Given the description of an element on the screen output the (x, y) to click on. 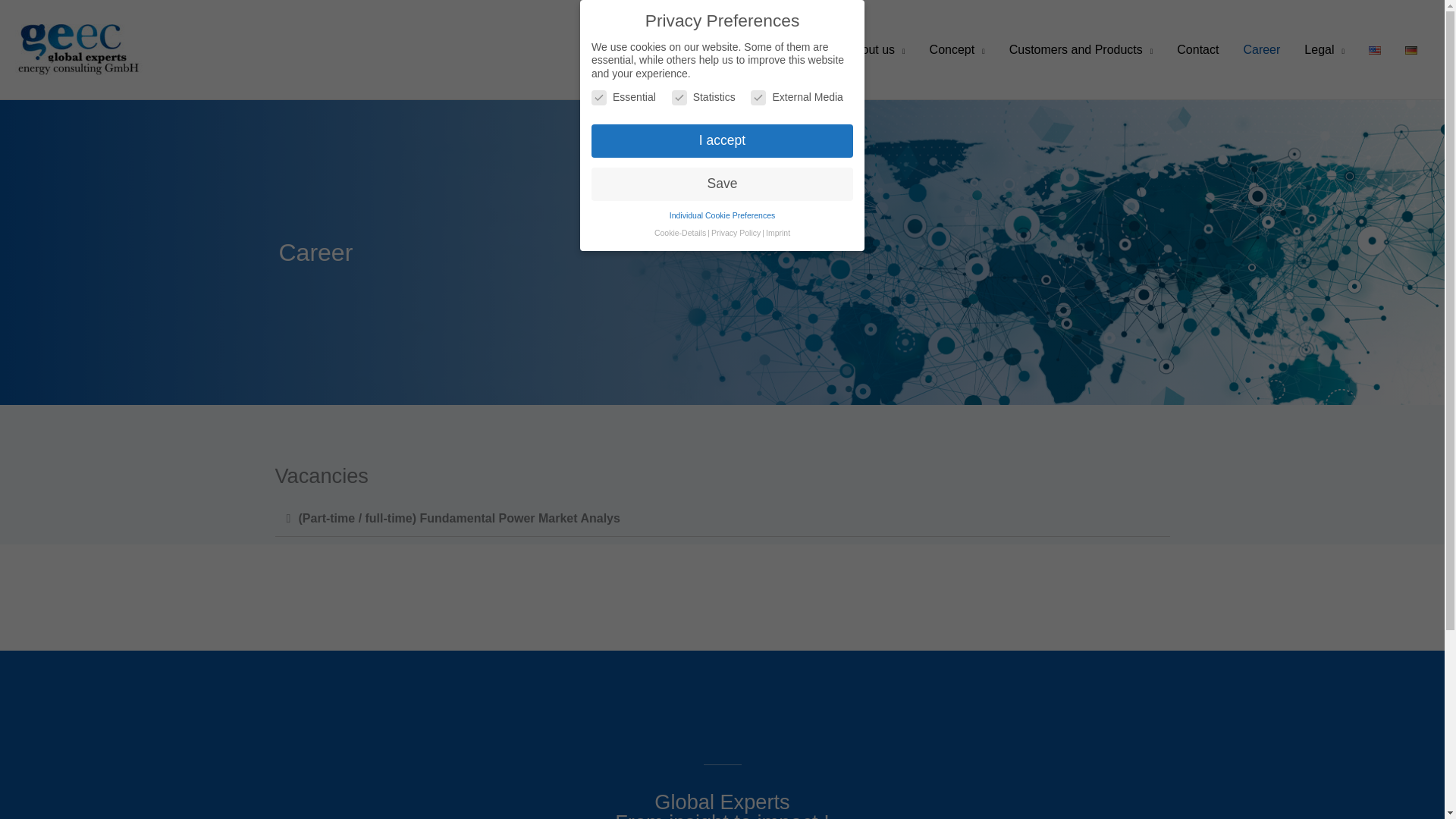
Save (722, 183)
English (1374, 49)
Career (1261, 49)
Privacy Policy (735, 232)
Legal (1324, 49)
Contact (1197, 49)
I accept (722, 141)
Individual Cookie Preferences (722, 215)
Customers and Products (1081, 49)
Imprint (777, 232)
Home (805, 49)
Concept (957, 49)
Cookie-Details (679, 232)
About us (875, 49)
Deutsch (1410, 49)
